Given the description of an element on the screen output the (x, y) to click on. 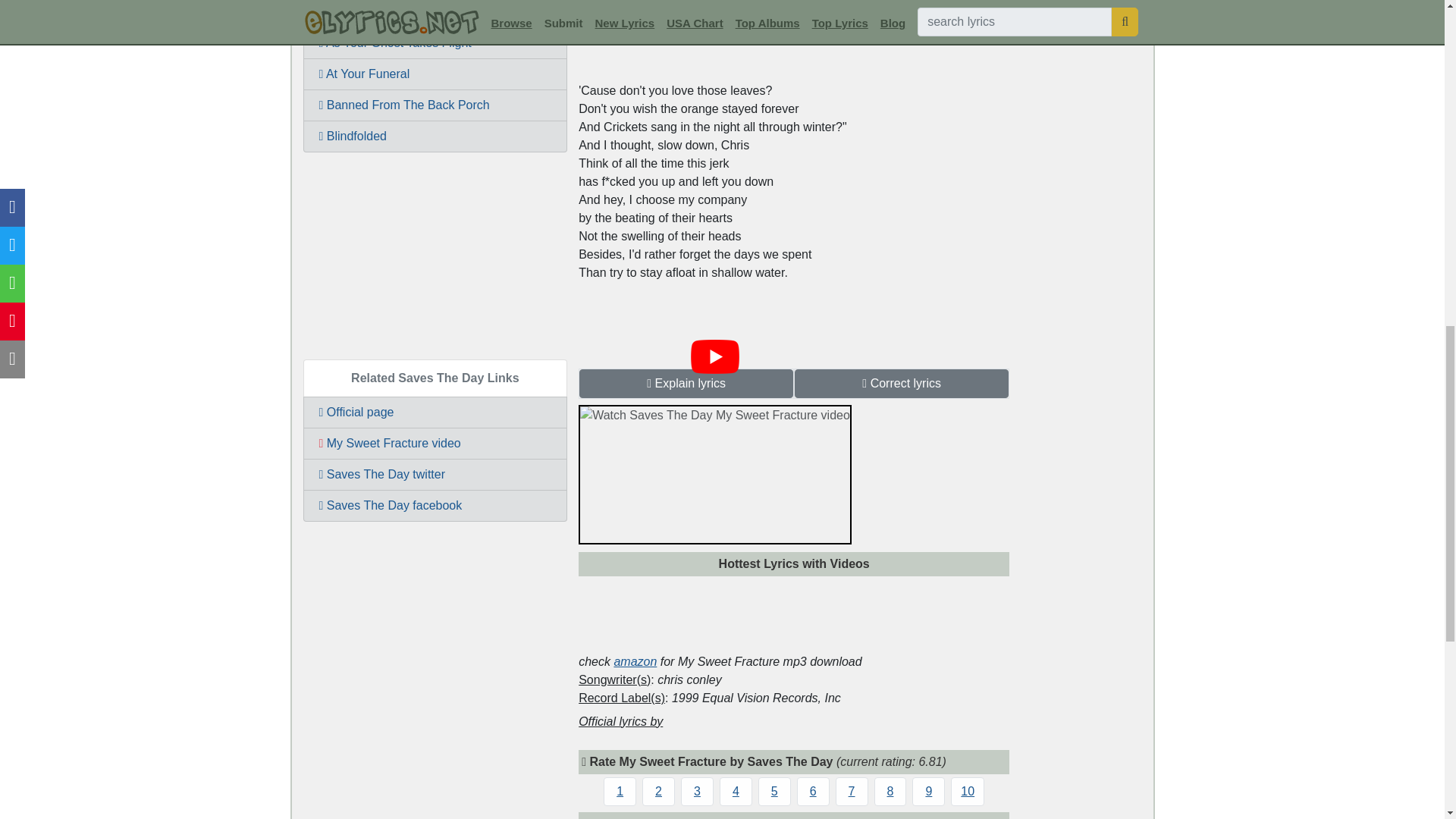
Explain lyrics (686, 382)
2 (658, 790)
Official page (434, 412)
As Your Ghost Takes Flight (434, 42)
Watch Saves The Day My Sweet Fracture video (714, 356)
6 (812, 790)
Blindfolded (434, 136)
Saves The Day facebook (434, 505)
300 (434, 253)
3 (697, 790)
1 (620, 790)
7 (851, 790)
Correct lyrics (901, 382)
amazon (634, 661)
5 (774, 790)
